Given the description of an element on the screen output the (x, y) to click on. 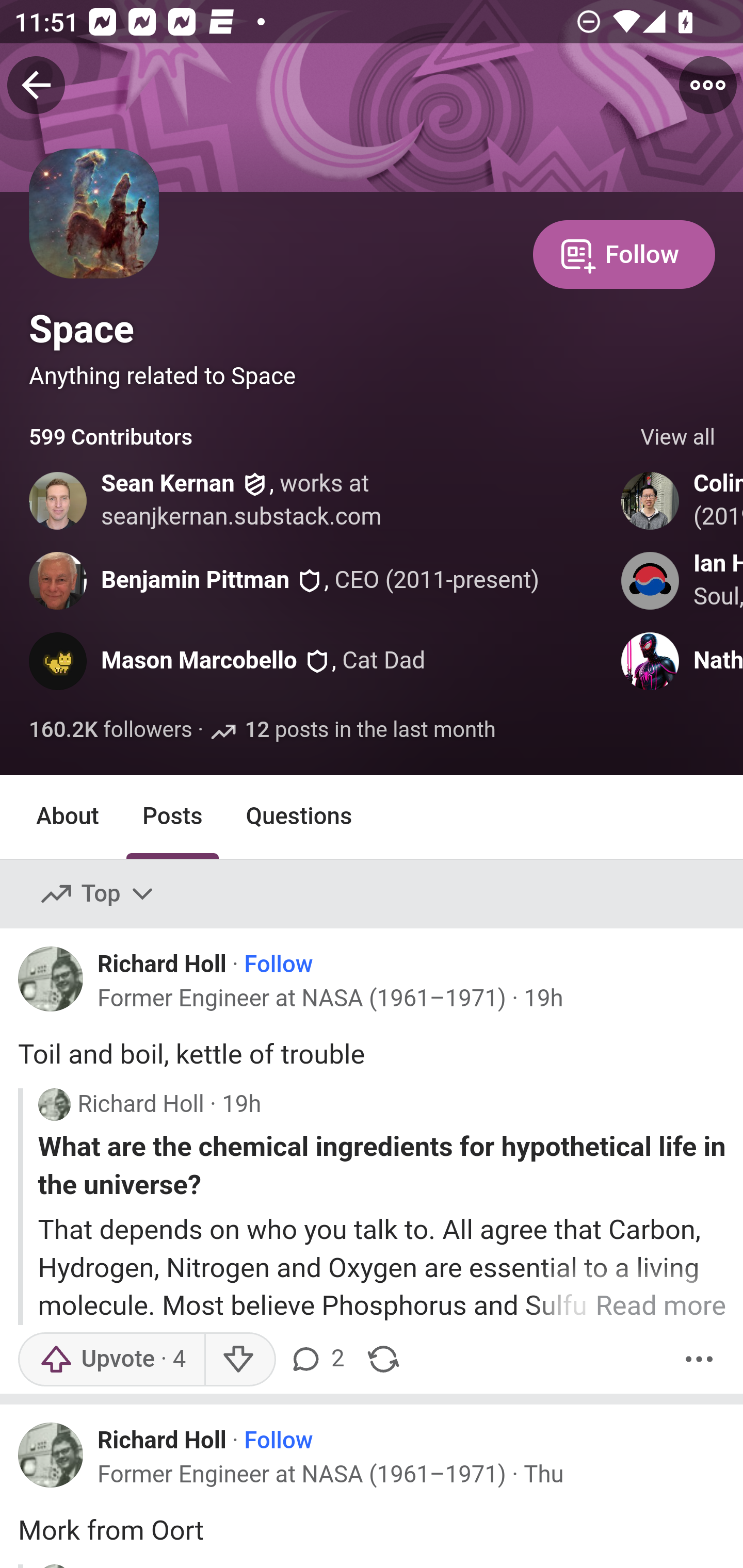
Follow (623, 252)
Space (81, 329)
View all (677, 437)
Sean Kernan (167, 484)
Profile photo for Sean Kernan (58, 499)
Profile photo for Colin Zhou (650, 499)
Profile photo for Benjamin Pittman (58, 579)
Profile photo for Ian Howe (650, 579)
Benjamin Pittman (195, 579)
Profile photo for Mason Marcobello (58, 661)
Profile photo for Nathan Stanish (650, 661)
Mason Marcobello (199, 660)
About (68, 816)
Posts (171, 816)
Questions (299, 816)
Top (97, 894)
Profile photo for Richard Holl (50, 978)
Richard Holl (162, 963)
Follow (278, 964)
Profile photo for Richard Holl (54, 1103)
Upvote (111, 1358)
Downvote (238, 1358)
2 comments (319, 1358)
Share (383, 1358)
More (699, 1358)
Profile photo for Richard Holl (50, 1454)
Richard Holl (162, 1440)
Follow (278, 1440)
